Given the description of an element on the screen output the (x, y) to click on. 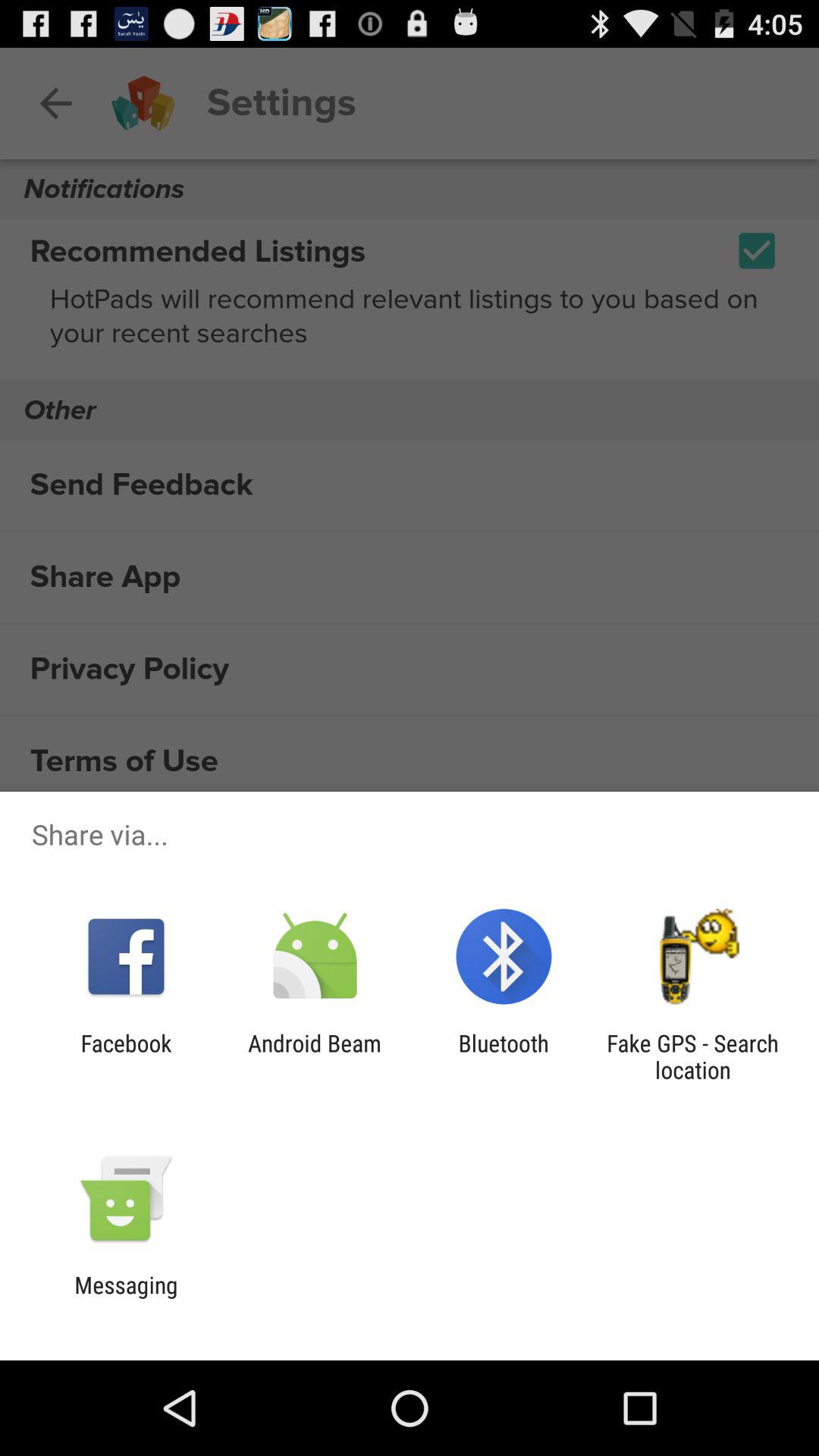
select the item next to the android beam icon (125, 1056)
